Given the description of an element on the screen output the (x, y) to click on. 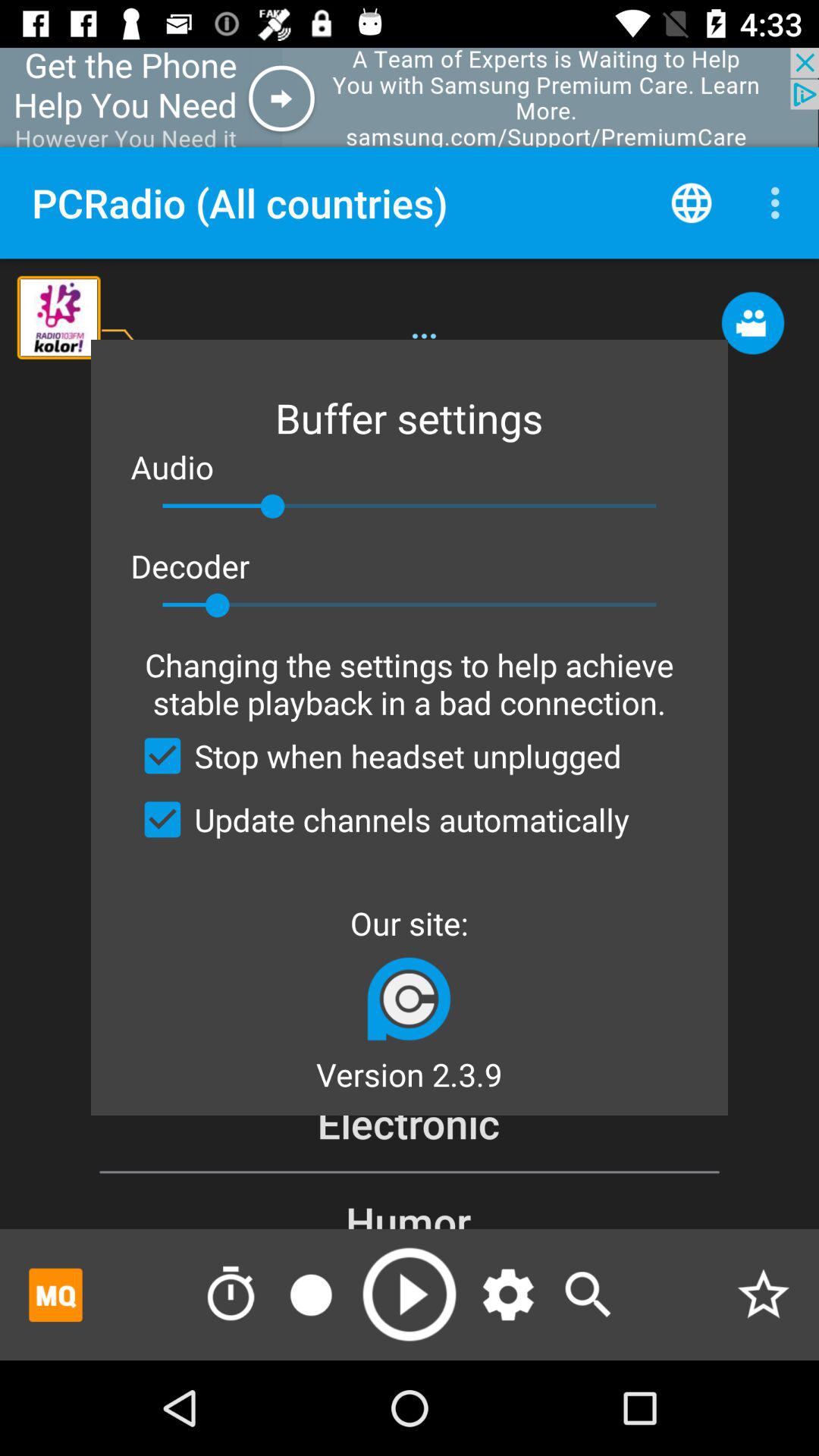
scroll until update channels automatically item (379, 819)
